Given the description of an element on the screen output the (x, y) to click on. 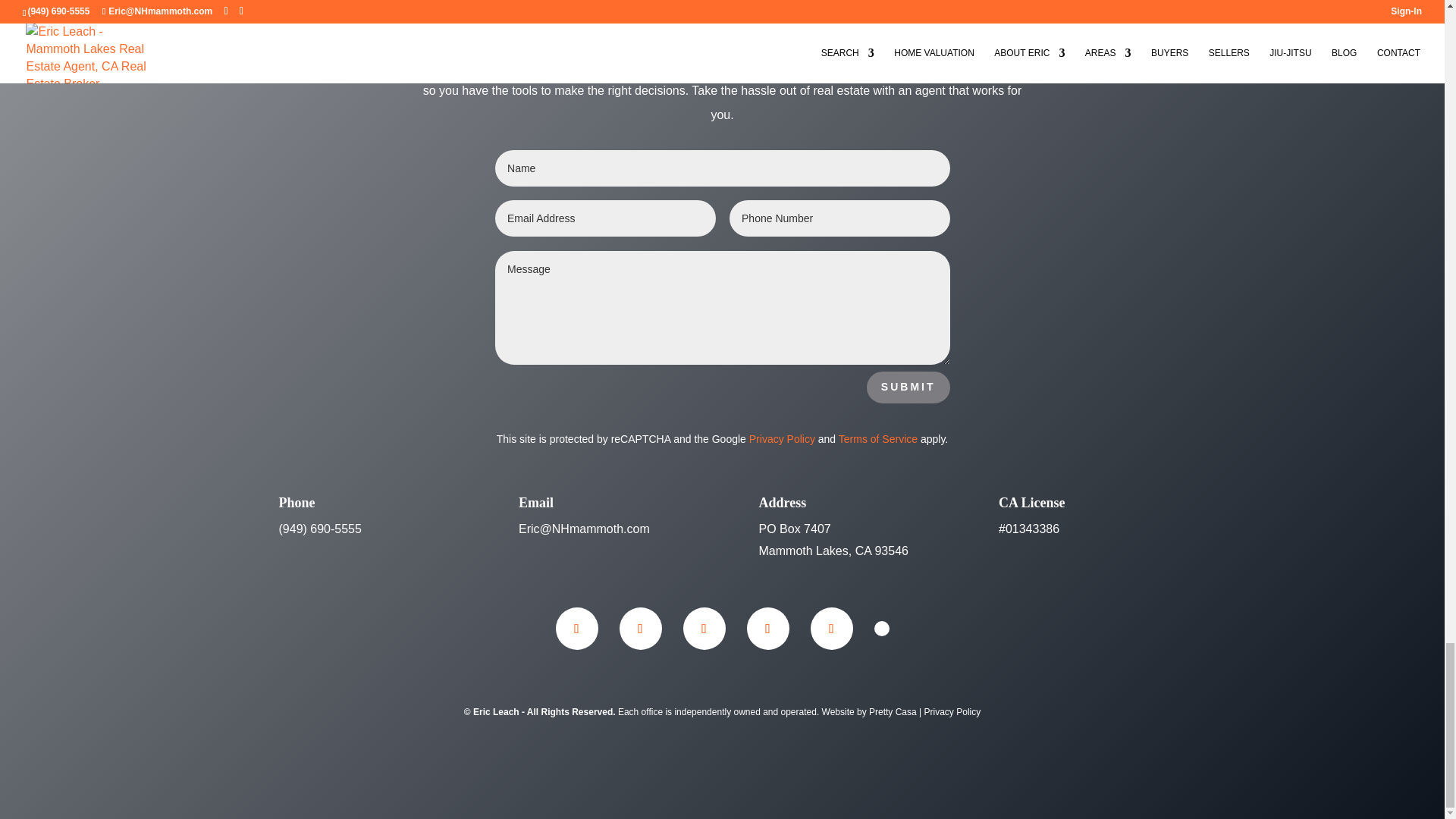
Follow on Youtube (830, 628)
Follow on Yelp (767, 628)
Follow on Instagram (639, 628)
Follow on dbdb-zillow (880, 628)
Follow on Facebook (575, 628)
Follow on LinkedIn (703, 628)
